Given the description of an element on the screen output the (x, y) to click on. 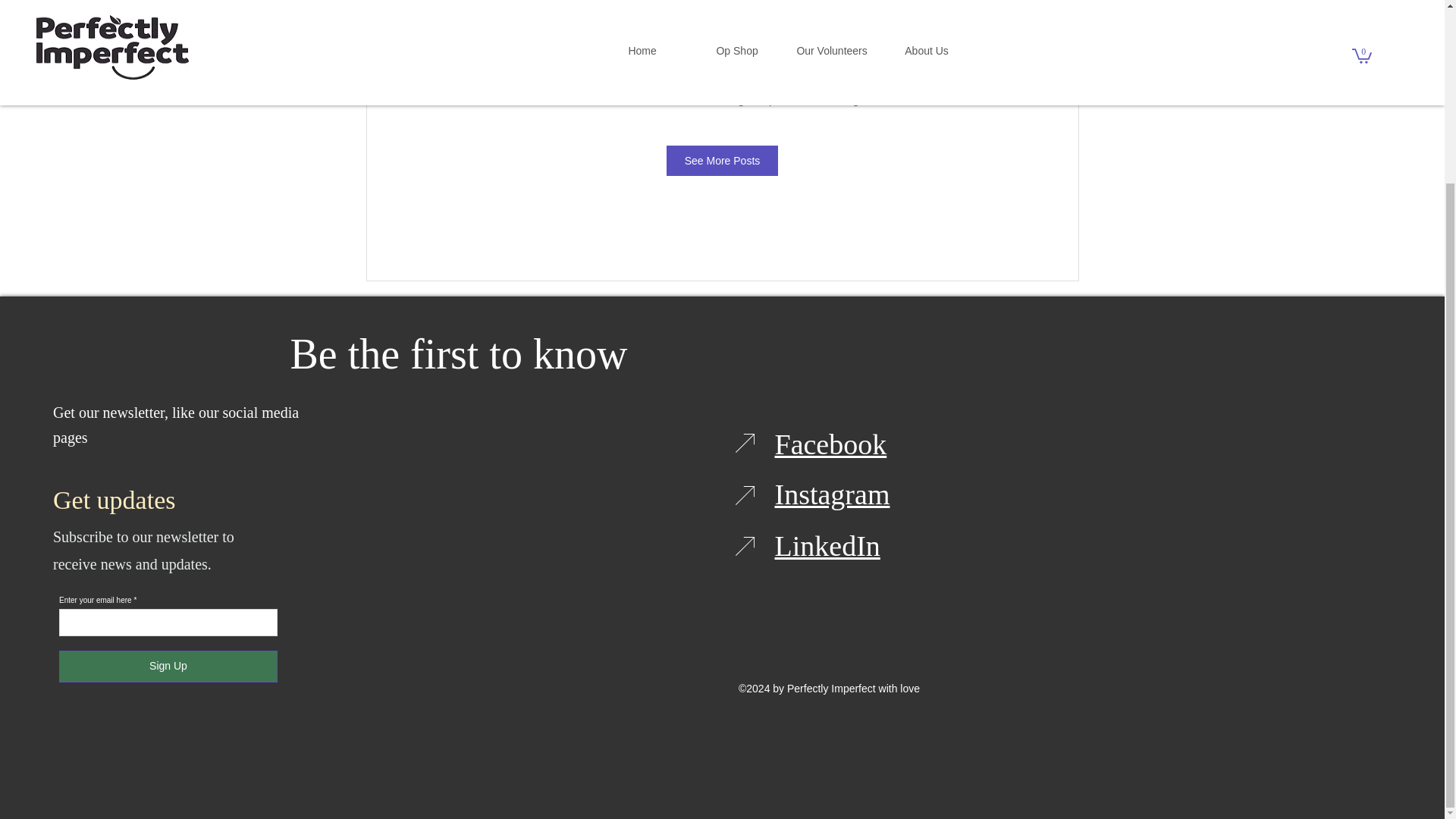
Facebook (830, 444)
LinkedIn (827, 545)
See More Posts (722, 160)
Instagram (831, 494)
Sign Up (168, 666)
